Given the description of an element on the screen output the (x, y) to click on. 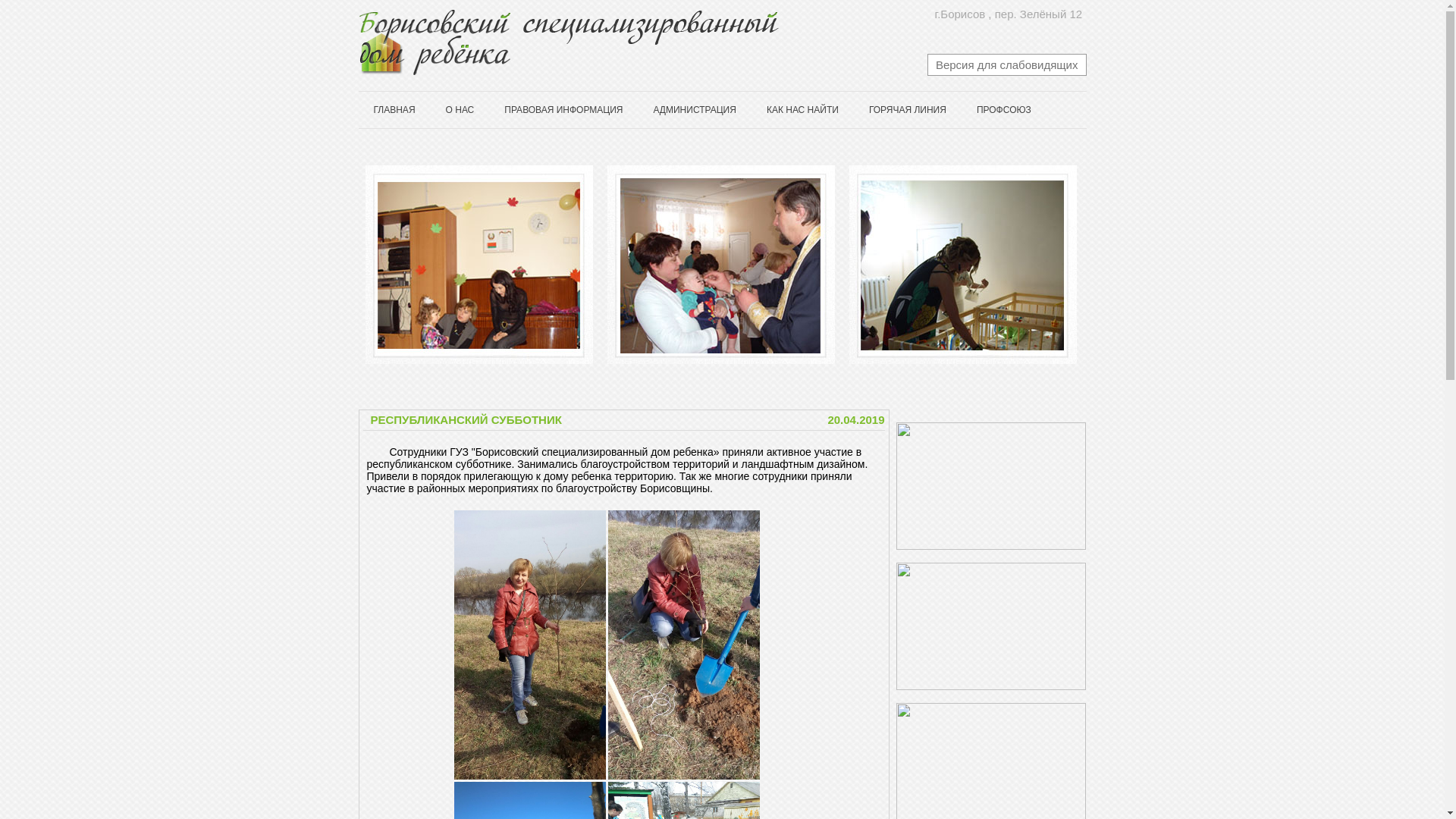
Image9 Element type: text (1029, 264)
Image8 Element type: text (805, 264)
Image7 Element type: text (582, 264)
Image6 Element type: text (354, 264)
< Element type: text (348, 265)
> Element type: text (1095, 265)
